Given the description of an element on the screen output the (x, y) to click on. 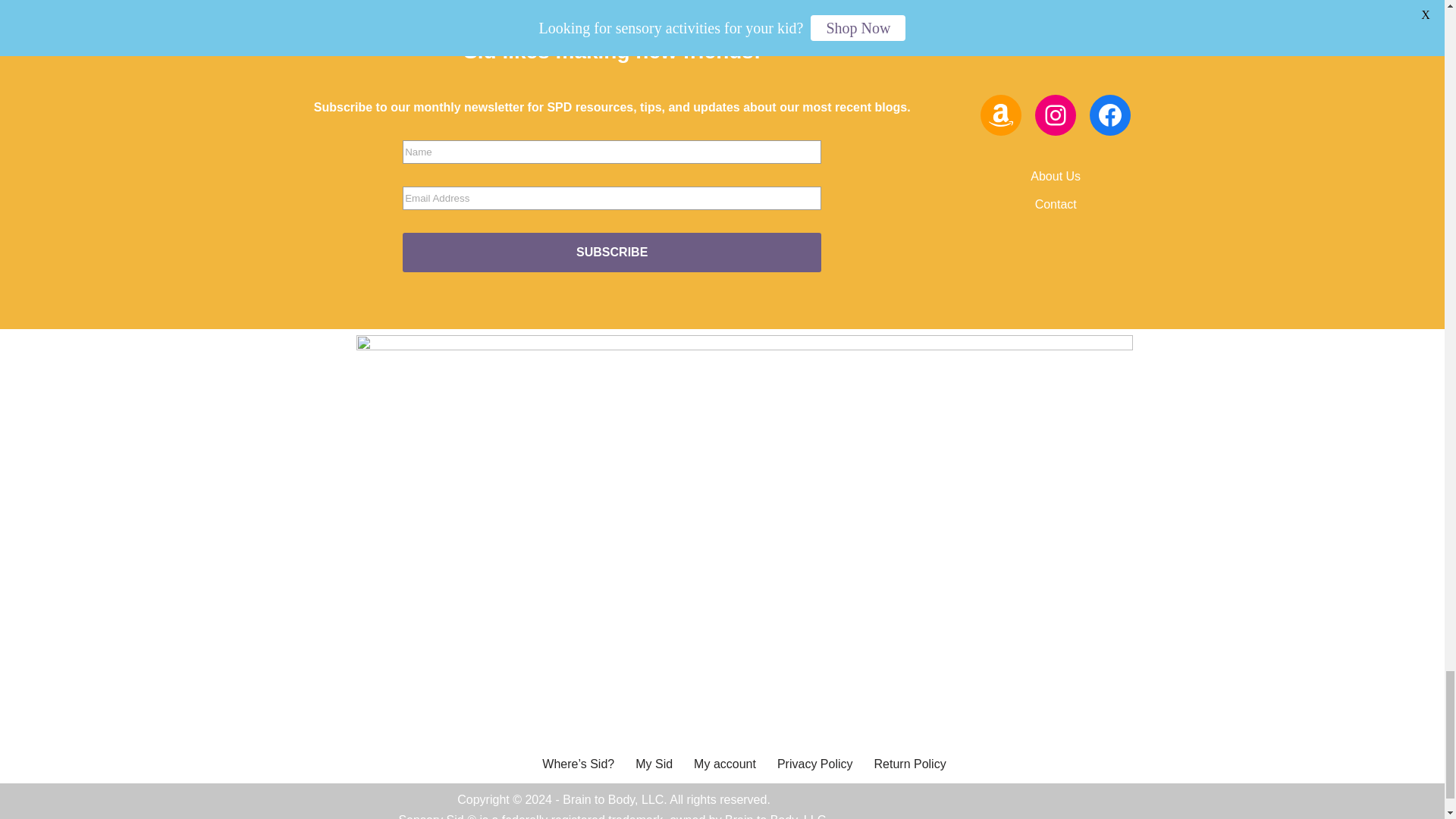
SUBSCRIBE (612, 251)
